Given the description of an element on the screen output the (x, y) to click on. 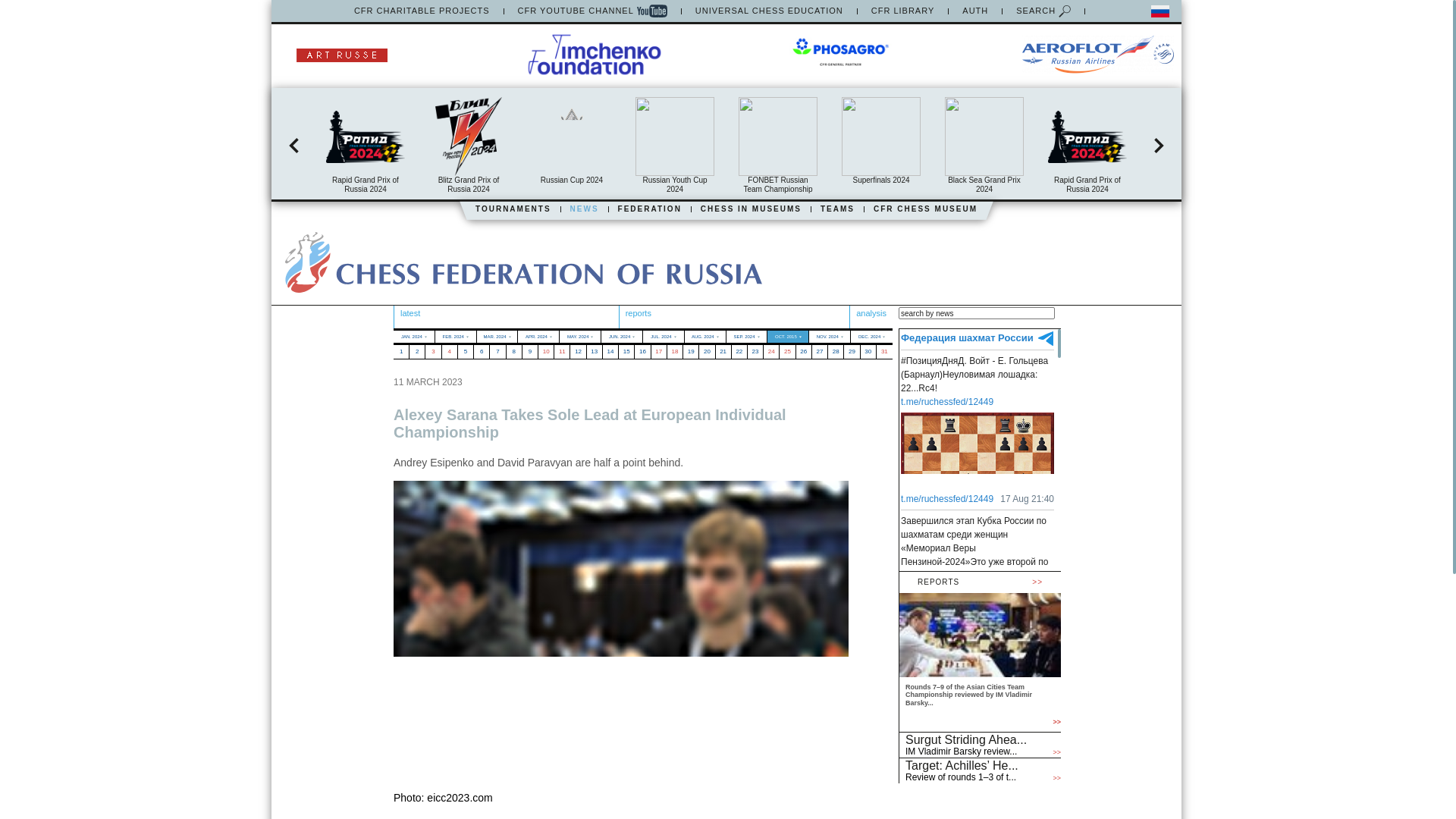
TEAMS (837, 208)
FEDERATION (649, 208)
TOURNAMENTS (513, 208)
UNIVERSAL CHESS EDUCATION (769, 10)
Superfinals 2024 (880, 141)
NEWS (584, 208)
CHESS IN MUSEUMS (751, 208)
SEARCH (1043, 10)
CFR CHESS MUSEUM (924, 208)
CFR LIBRARY (902, 10)
